Given the description of an element on the screen output the (x, y) to click on. 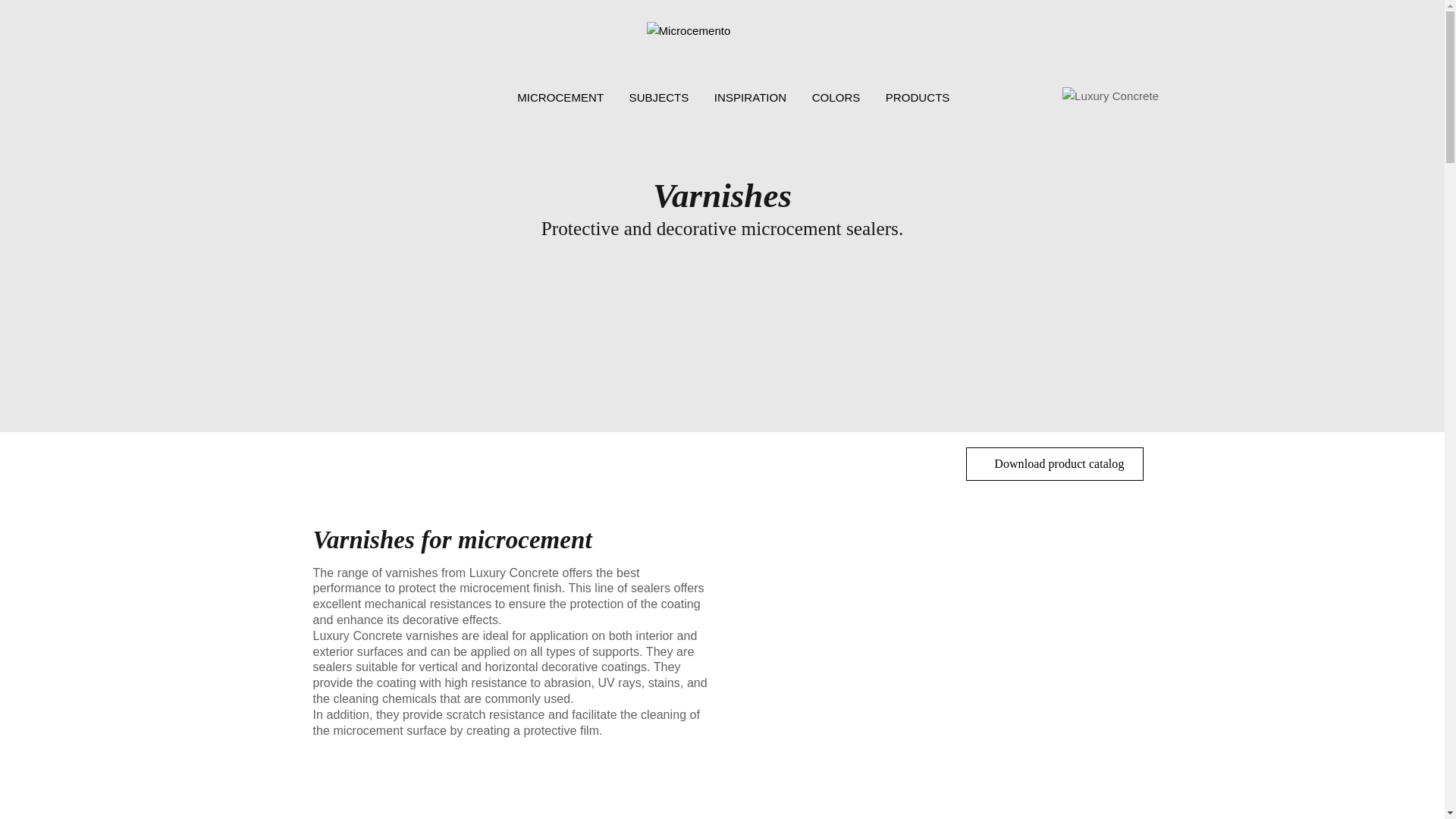
COLORS (835, 98)
INSPIRATION (750, 98)
MICROCEMENT (560, 98)
PRODUCTS (914, 97)
Luxury Concrete Web (1110, 96)
SUBJECTS (658, 98)
